Given the description of an element on the screen output the (x, y) to click on. 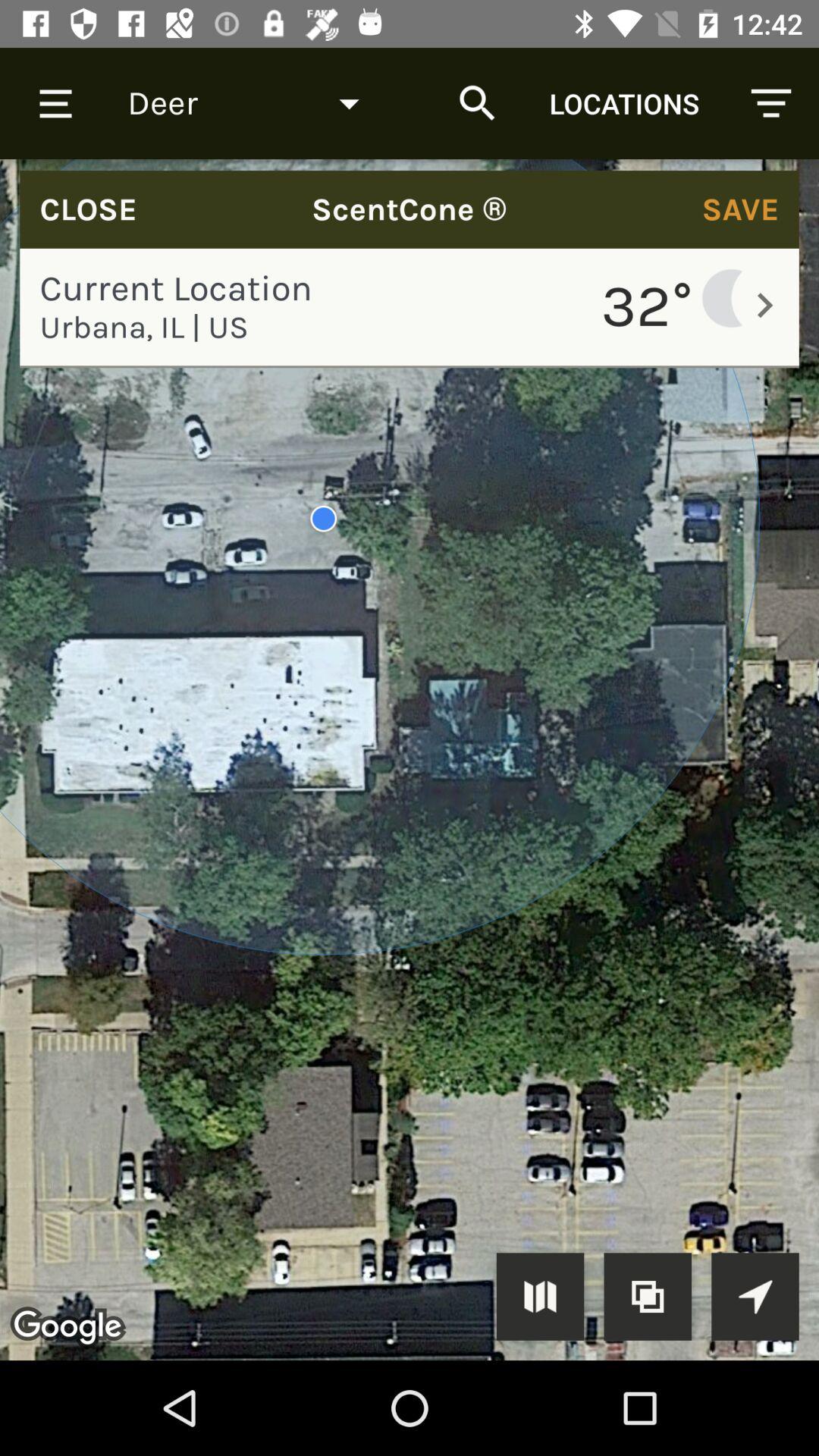
go to navigation (755, 1296)
